Given the description of an element on the screen output the (x, y) to click on. 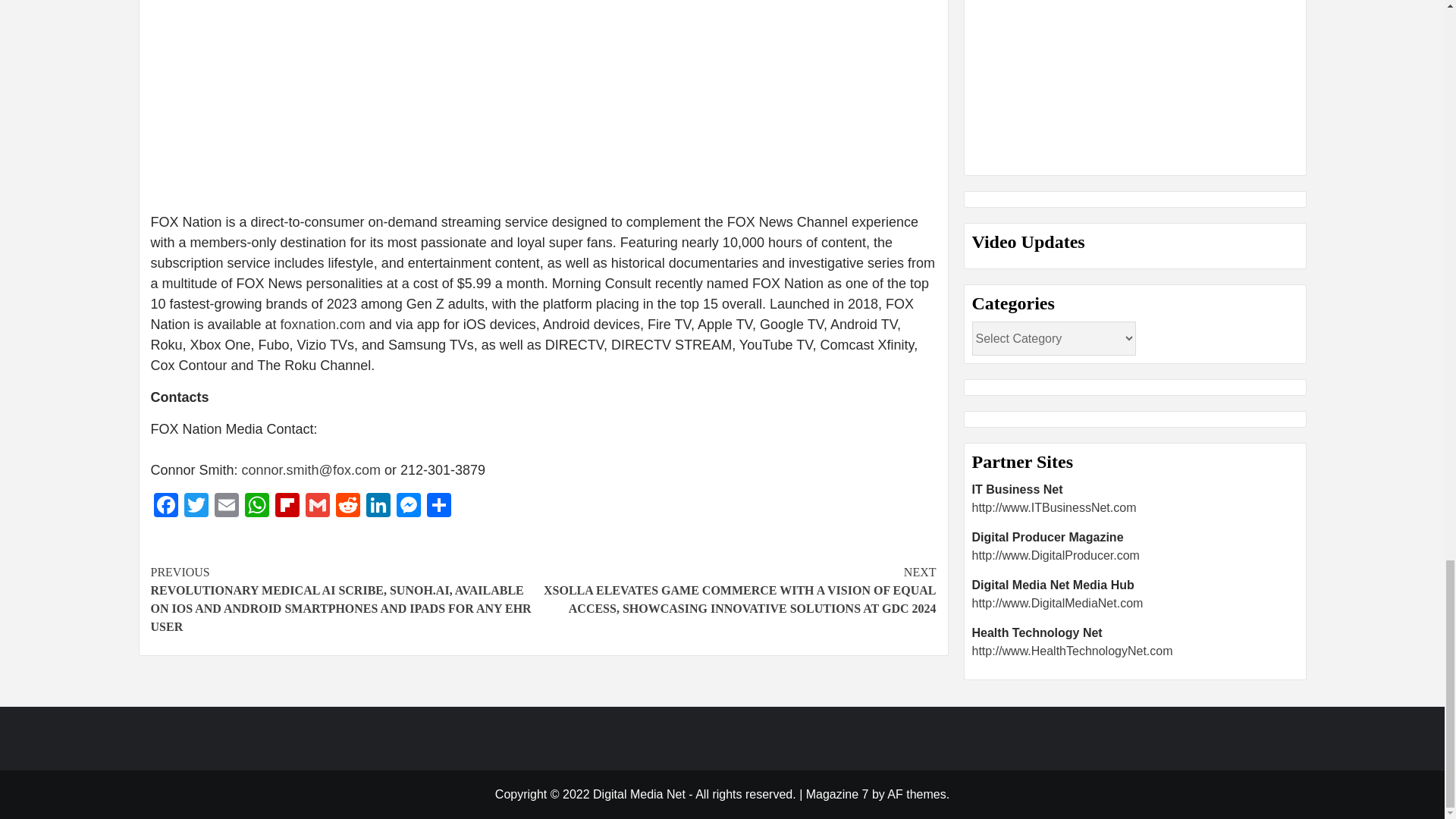
Email (226, 506)
Facebook (164, 506)
Facebook (164, 506)
Flipboard (285, 506)
foxnation.com (323, 324)
Twitter (195, 506)
WhatsApp (255, 506)
